Given the description of an element on the screen output the (x, y) to click on. 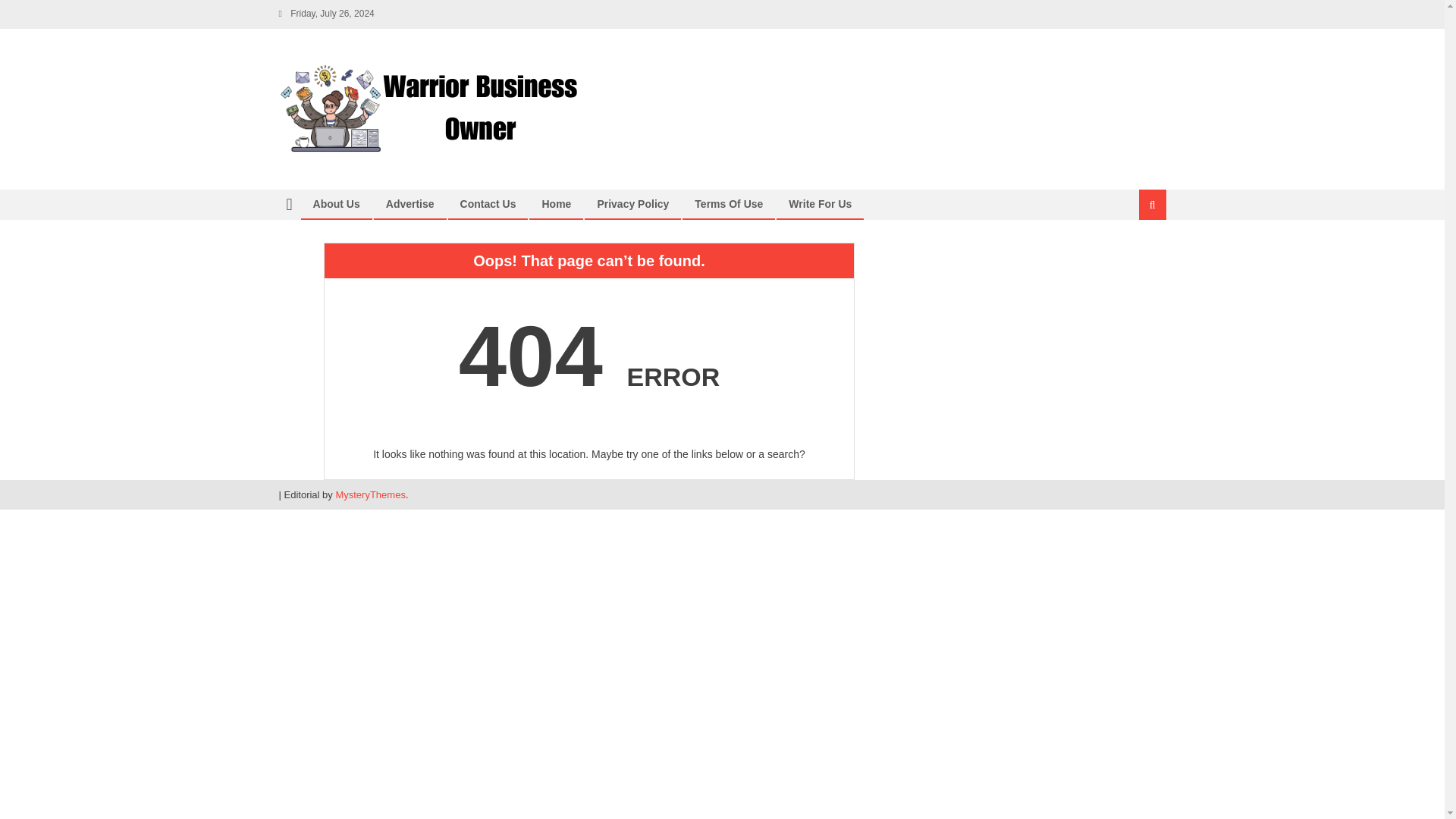
Write For Us (820, 203)
Home (555, 203)
Contact Us (487, 203)
Search (1133, 255)
About Us (336, 203)
Advertise (409, 203)
Terms Of Use (728, 203)
MysteryThemes (369, 494)
Privacy Policy (632, 203)
